Given the description of an element on the screen output the (x, y) to click on. 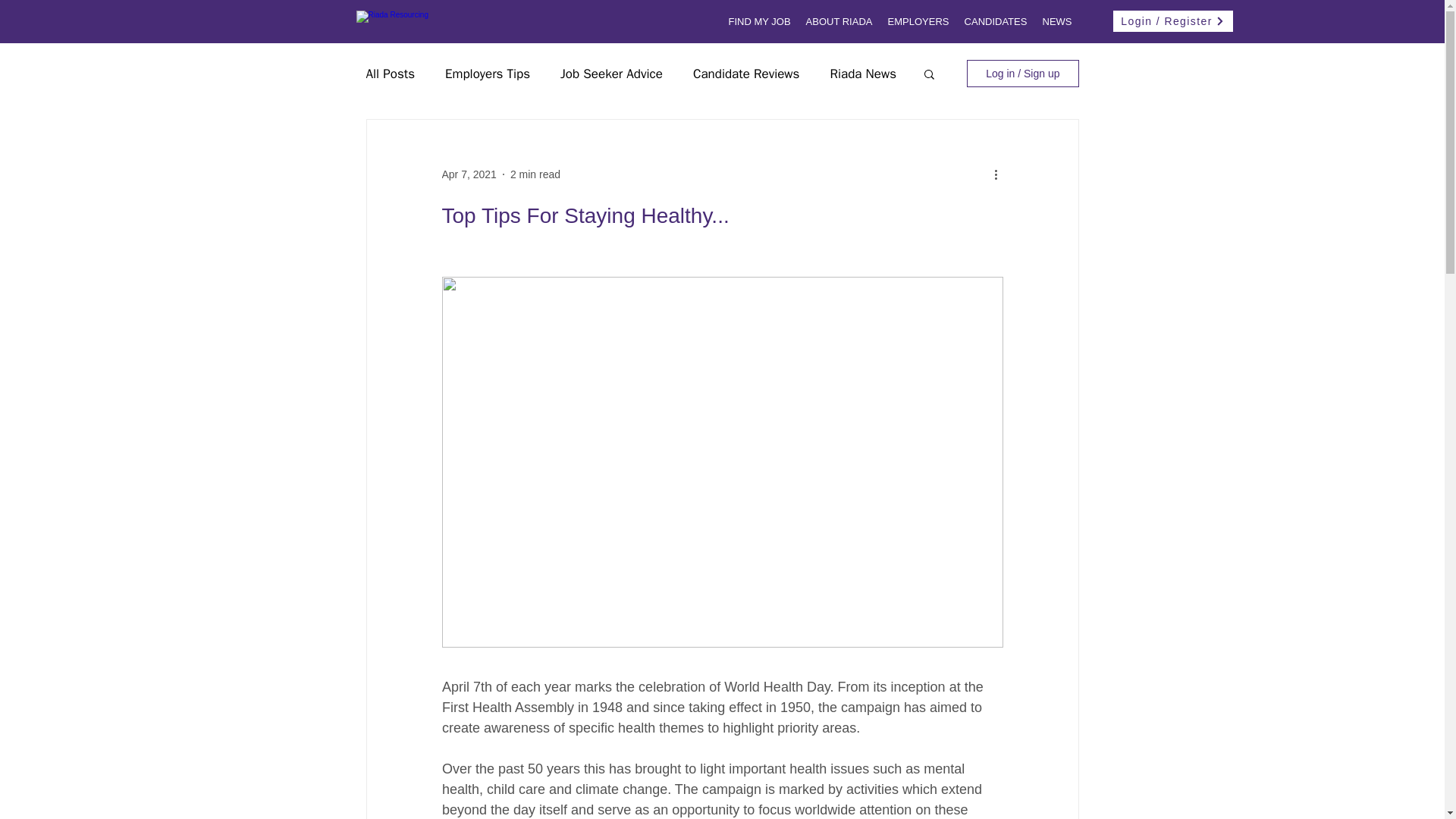
Apr 7, 2021 (468, 174)
FIND MY JOB (758, 21)
Riada News (862, 73)
All Posts (389, 73)
EMPLOYERS (917, 21)
Employers Tips (487, 73)
NEWS (1055, 21)
Candidate Reviews (746, 73)
ABOUT RIADA (838, 21)
Job Seeker Advice (611, 73)
